Given the description of an element on the screen output the (x, y) to click on. 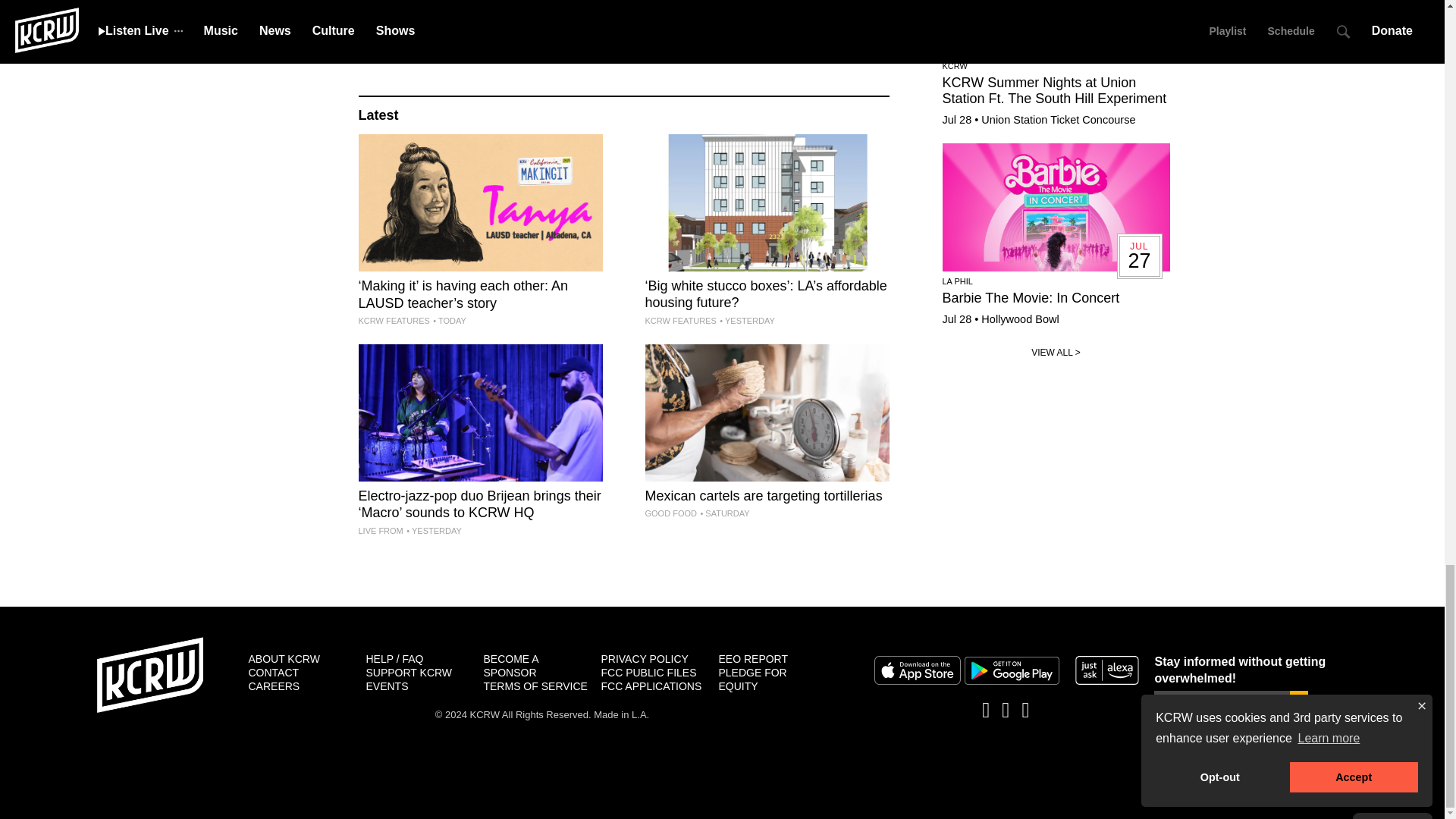
Saturday, July 20th 2024, 3:00 am (438, 34)
Thursday, July 25th 2024, 3:00 pm (746, 320)
Saturday, July 20th 2024, 3:00 am (724, 33)
Friday, July 26th 2024, 3:00 pm (448, 320)
